Given the description of an element on the screen output the (x, y) to click on. 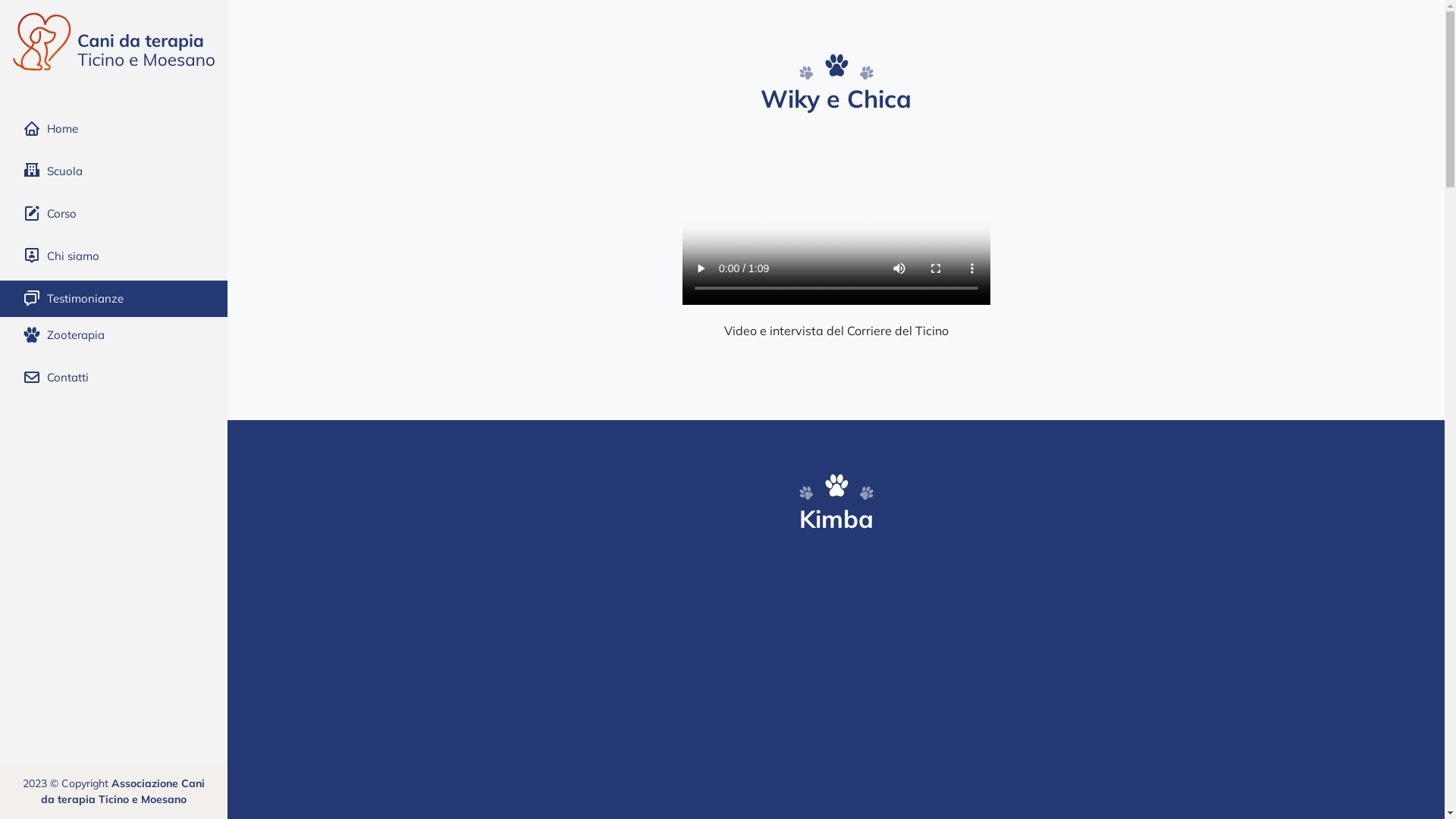
Contatti Element type: text (113, 377)
Zooterapia Element type: text (113, 334)
Scuola Element type: text (113, 171)
Home Element type: text (113, 128)
Testimonianze Element type: text (113, 298)
Corso Element type: text (113, 213)
Chi siamo Element type: text (113, 256)
